Given the description of an element on the screen output the (x, y) to click on. 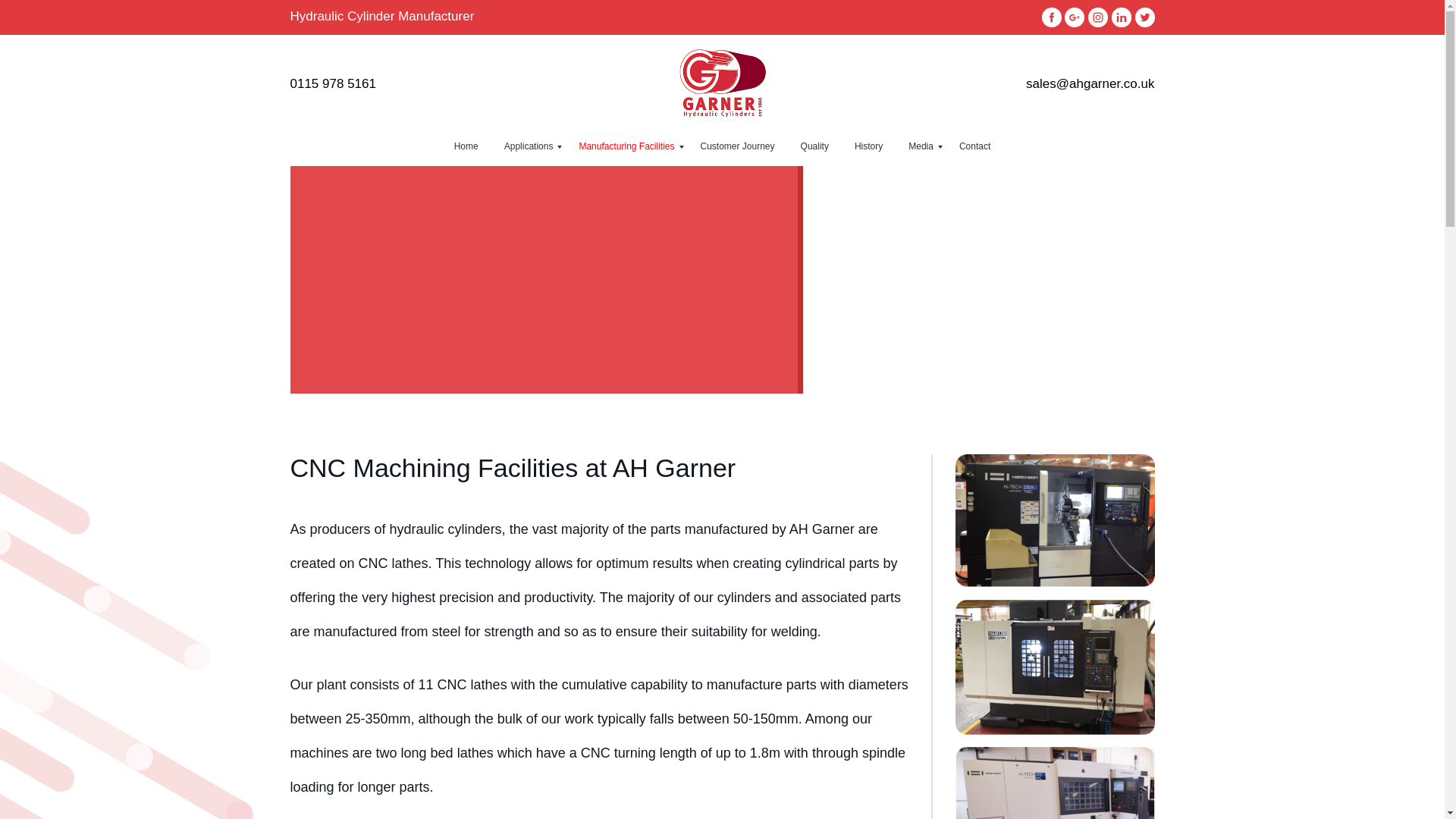
Customer Journey (737, 146)
0115 978 5161 (332, 83)
Media (920, 146)
Quality (814, 146)
Manufacturing Facilities (626, 146)
Home (466, 146)
Contact (974, 146)
History (868, 146)
Applications (529, 146)
